Given the description of an element on the screen output the (x, y) to click on. 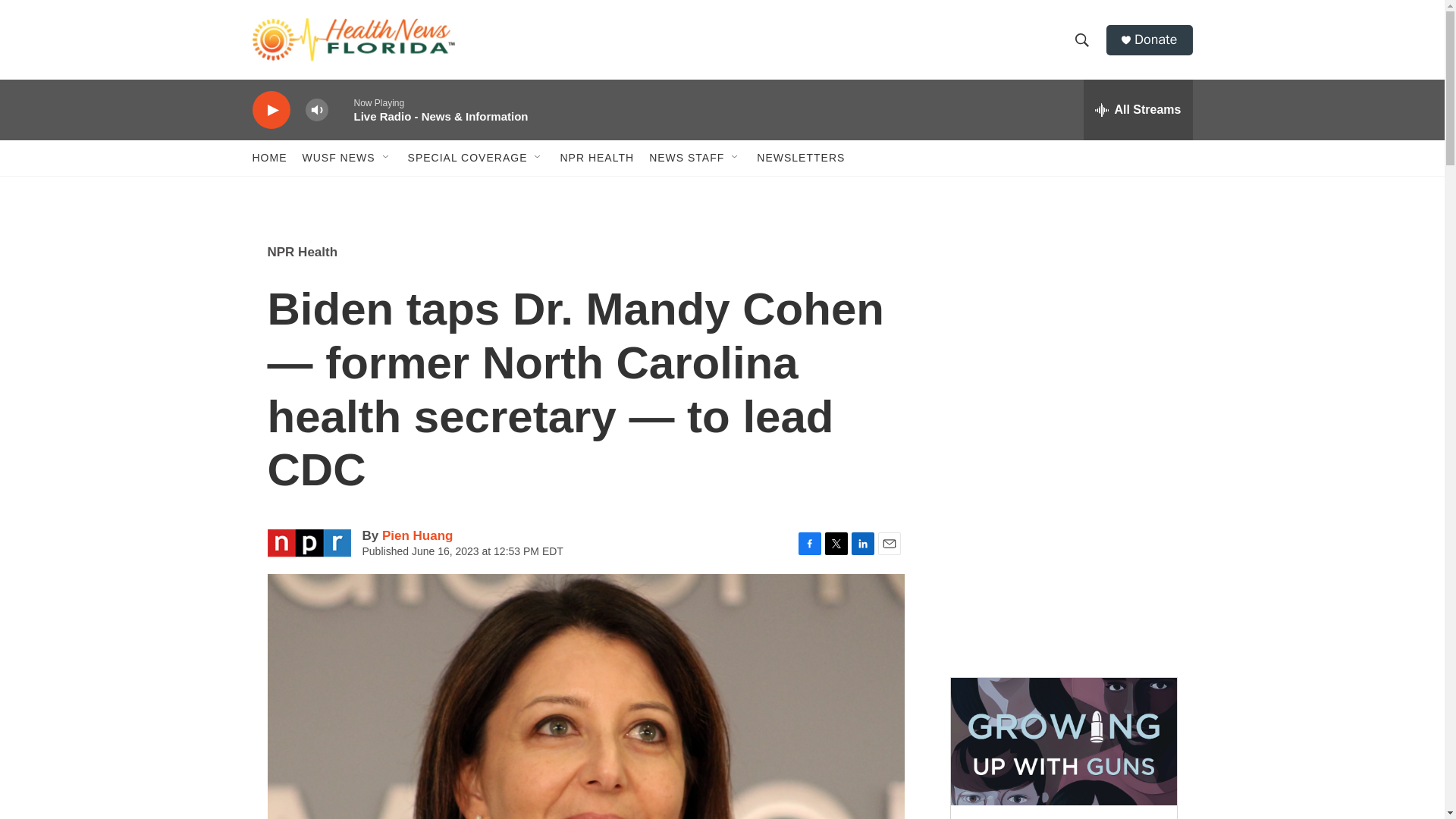
3rd party ad content (1062, 552)
3rd party ad content (1062, 331)
